Given the description of an element on the screen output the (x, y) to click on. 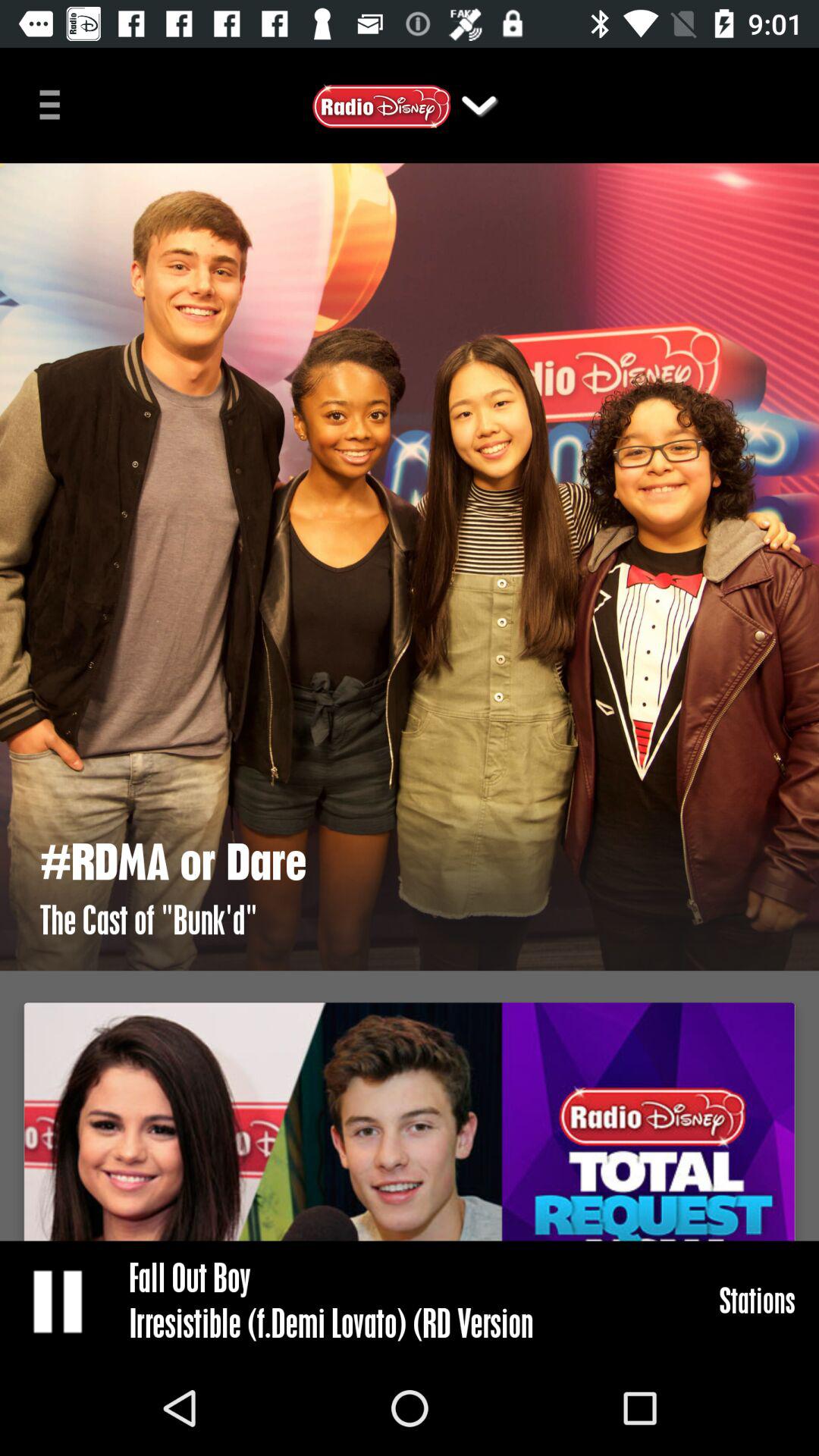
turn on item at the bottom right corner (757, 1300)
